Given the description of an element on the screen output the (x, y) to click on. 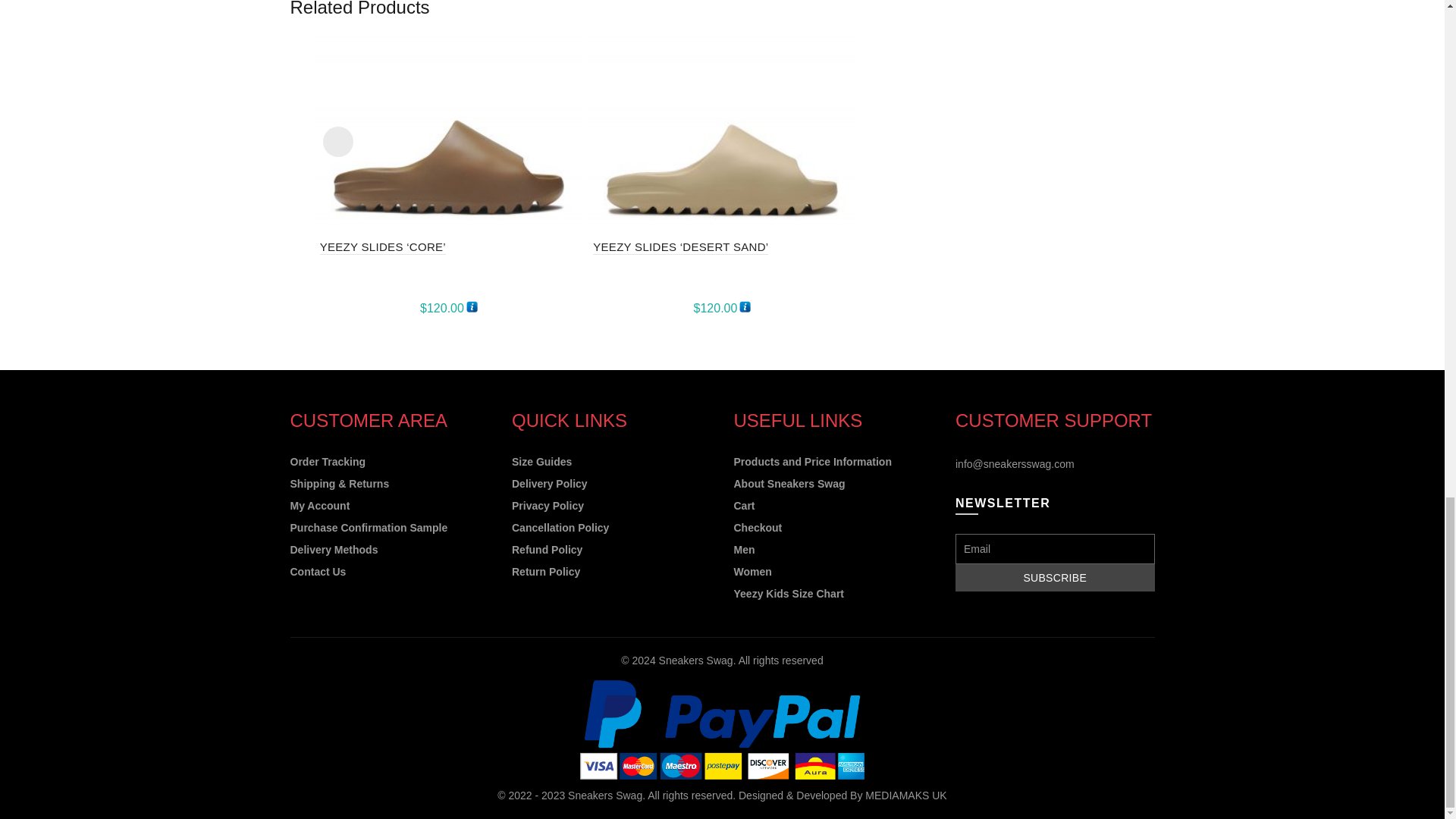
Subscribe (1054, 577)
